Given the description of an element on the screen output the (x, y) to click on. 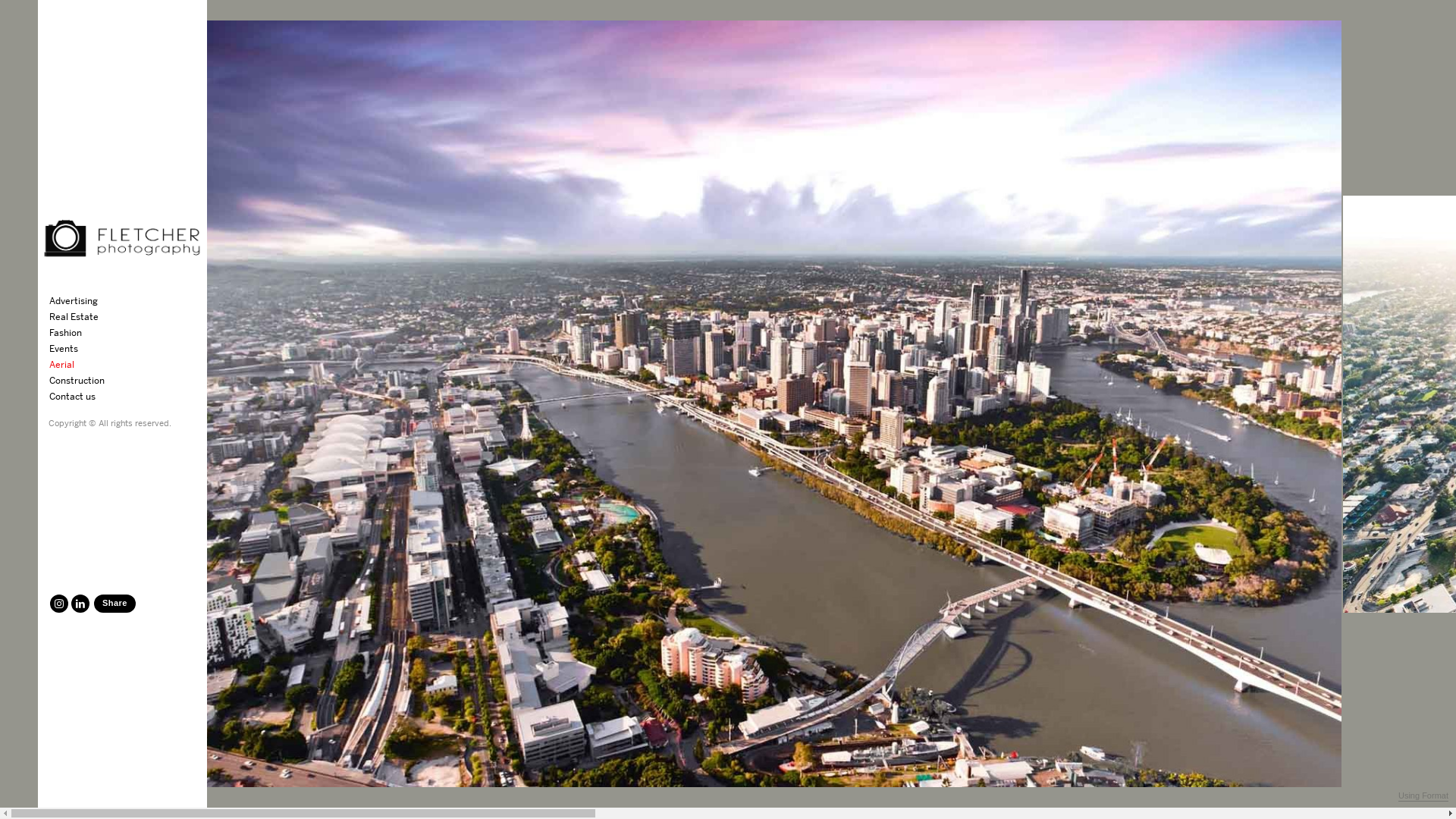
Aerial Element type: text (63, 364)
Fashion Element type: text (67, 332)
Using Format Element type: text (1423, 795)
Contact us Element type: text (74, 396)
Events Element type: text (65, 348)
Real Estate Element type: text (75, 316)
Construction Element type: text (78, 380)
Advertising Element type: text (75, 300)
Share Element type: text (114, 603)
